Given the description of an element on the screen output the (x, y) to click on. 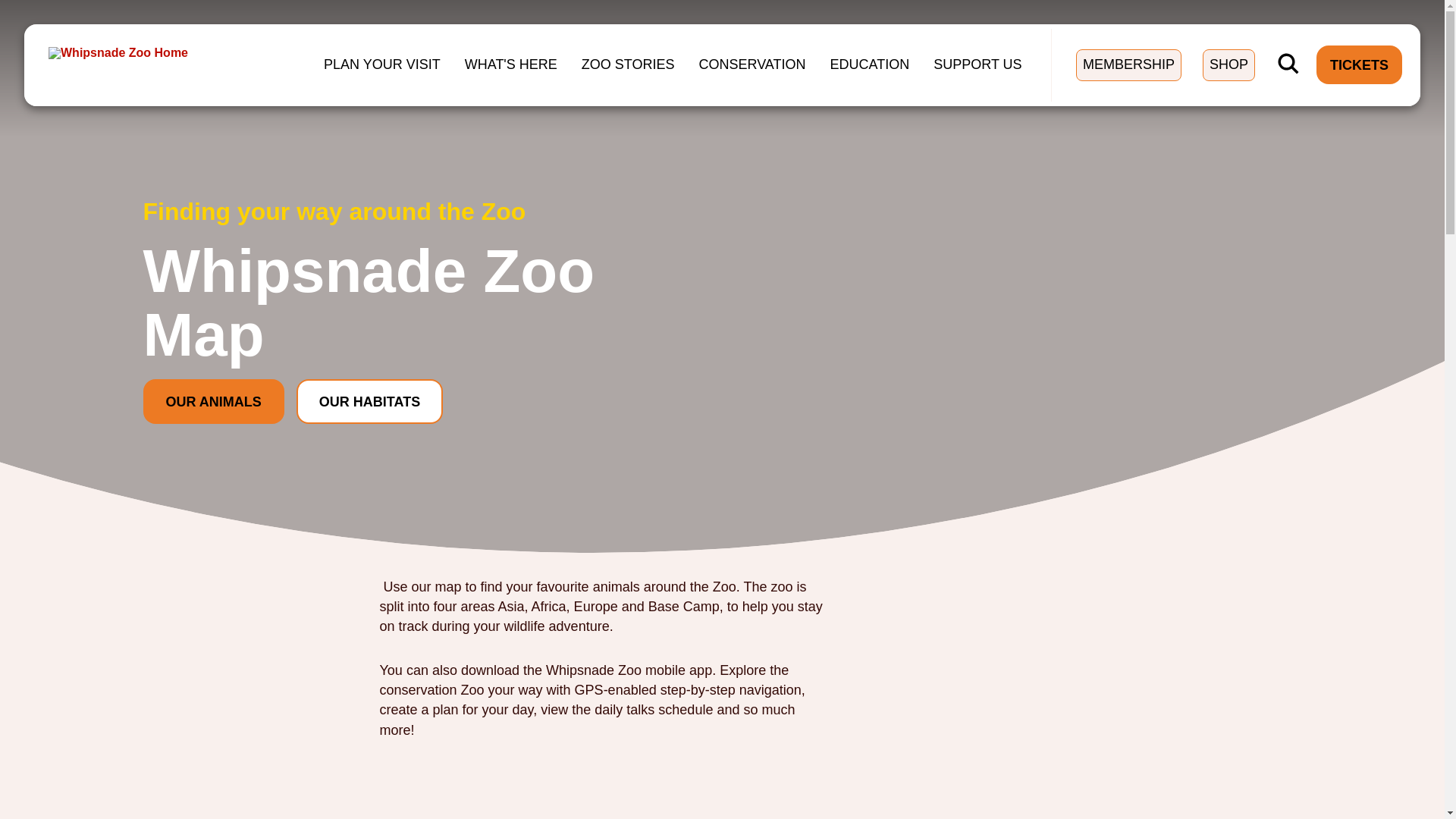
ZOO STORIES (628, 64)
WHAT'S HERE (510, 64)
CONSERVATION (752, 64)
SUPPORT US (977, 64)
EDUCATION (869, 64)
PLAN YOUR VISIT (381, 64)
